Given the description of an element on the screen output the (x, y) to click on. 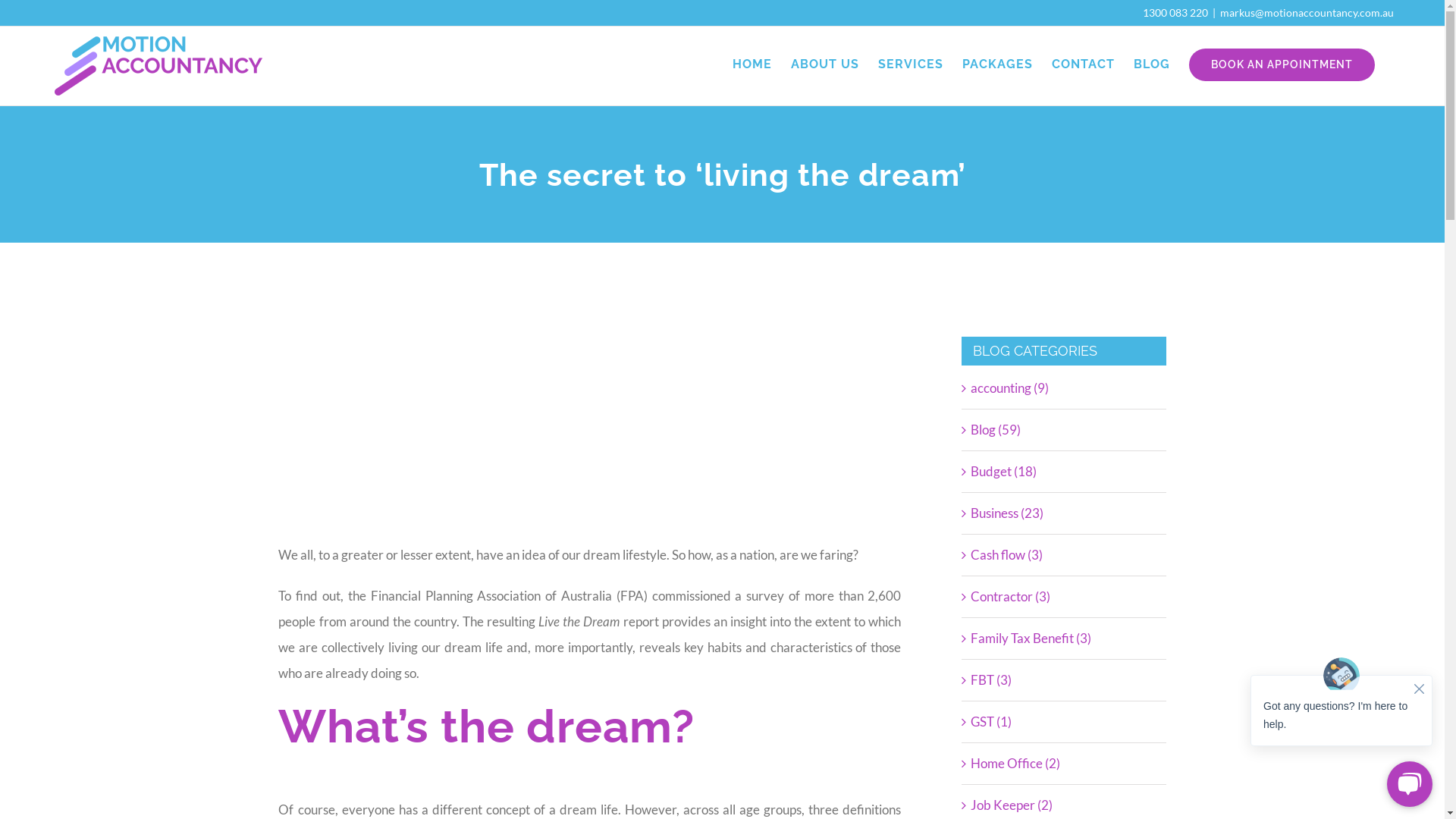
GST (1) Element type: text (1063, 721)
HOME Element type: text (751, 64)
SERVICES Element type: text (910, 64)
accounting (9) Element type: text (1063, 388)
Cash flow (3) Element type: text (1063, 554)
markus@motionaccountancy.com.au Element type: text (1306, 12)
BOOK AN APPOINTMENT Element type: text (1281, 64)
Contractor (3) Element type: text (1063, 596)
Budget (18) Element type: text (1063, 471)
BLOG Element type: text (1151, 64)
CONTACT Element type: text (1082, 64)
Family Tax Benefit (3) Element type: text (1063, 638)
Business (23) Element type: text (1063, 513)
FBT (3) Element type: text (1063, 680)
Blog (59) Element type: text (1063, 429)
Job Keeper (2) Element type: text (1063, 805)
Home Office (2) Element type: text (1063, 763)
PACKAGES Element type: text (997, 64)
ABOUT US Element type: text (824, 64)
